Given the description of an element on the screen output the (x, y) to click on. 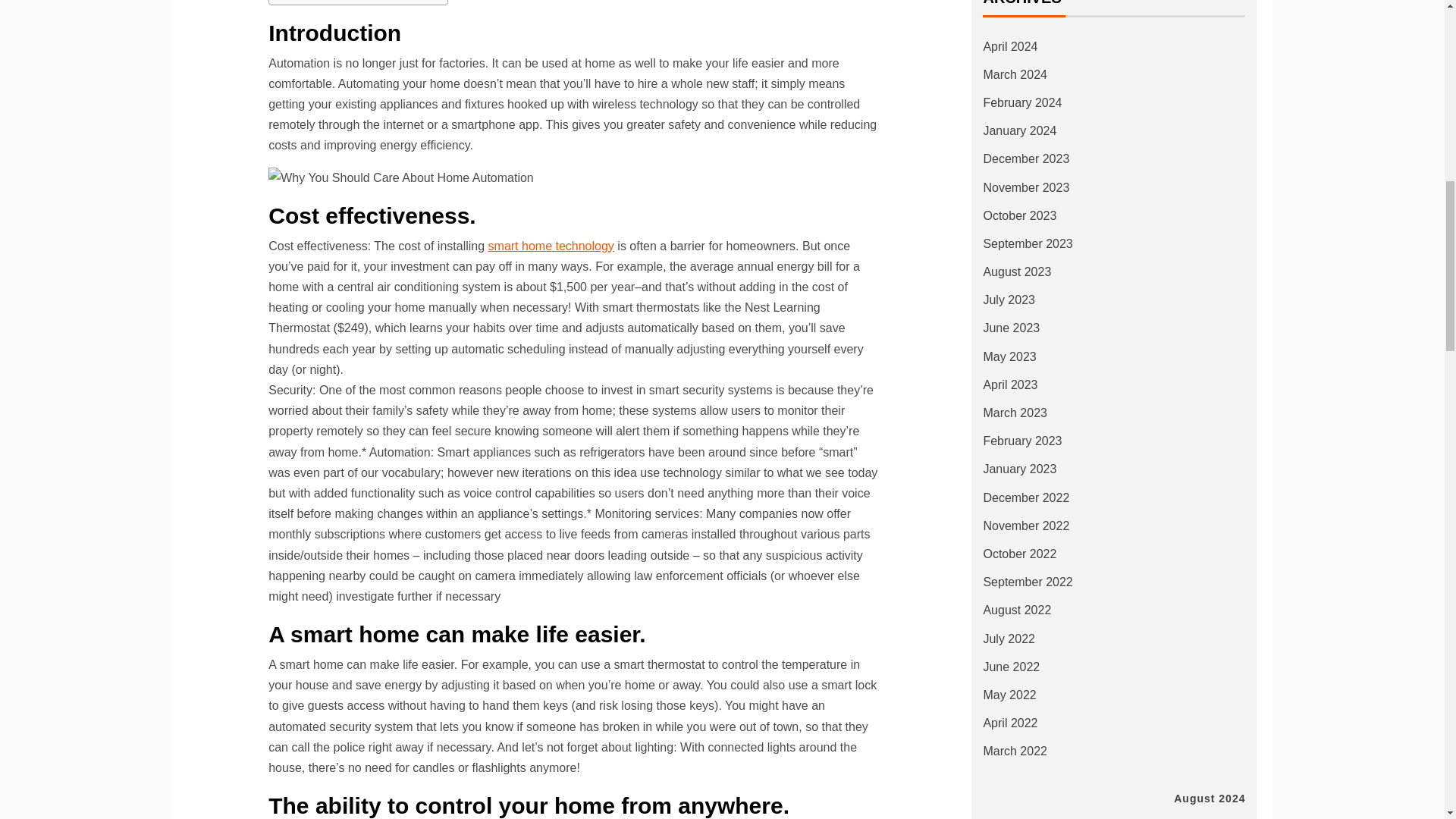
smart home technology (550, 245)
